Given the description of an element on the screen output the (x, y) to click on. 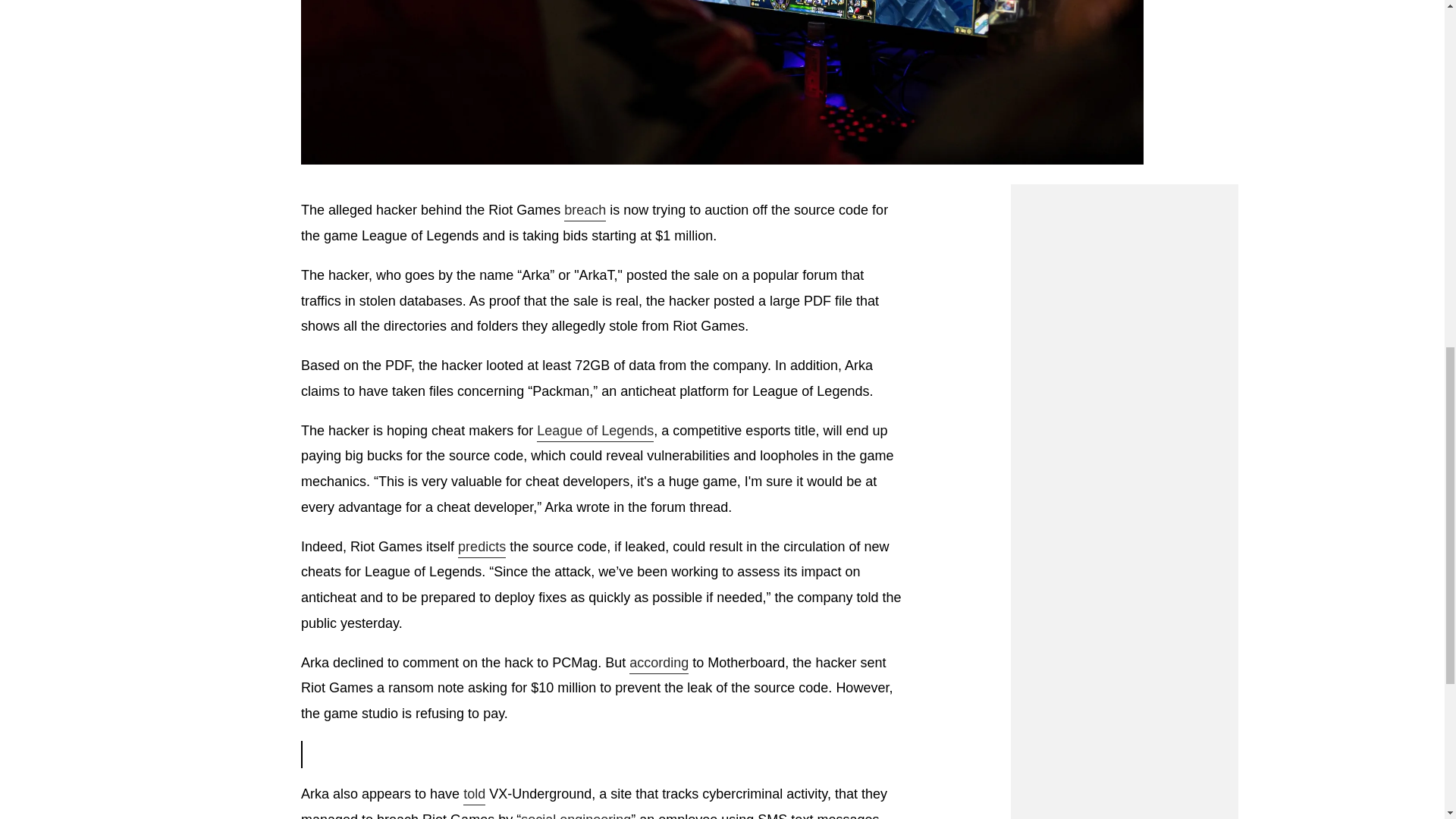
told (473, 795)
according (658, 664)
predicts (481, 547)
breach (584, 211)
League of Legends (595, 432)
